Given the description of an element on the screen output the (x, y) to click on. 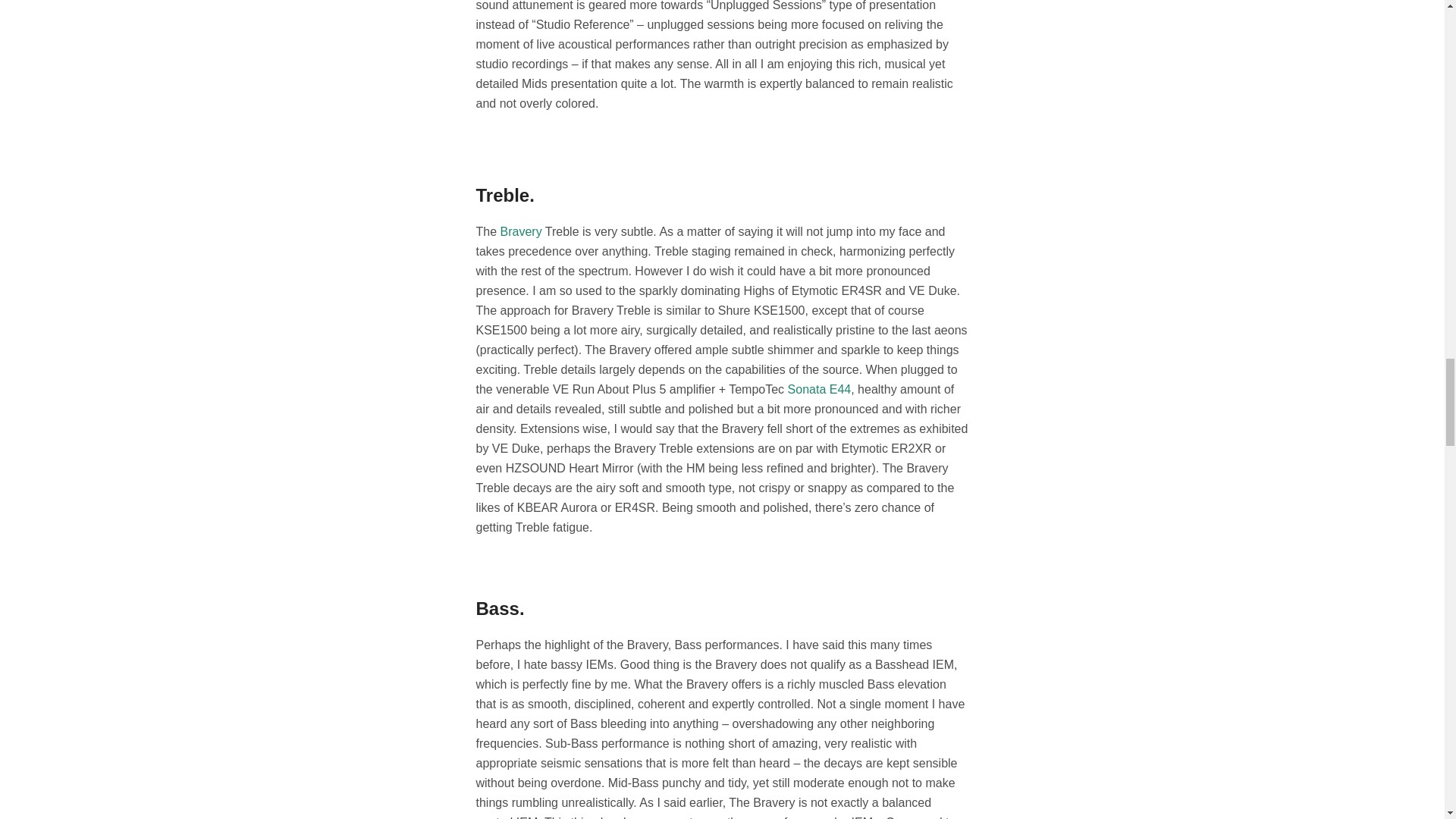
Sonata E44 (819, 389)
Bravery (520, 231)
